Given the description of an element on the screen output the (x, y) to click on. 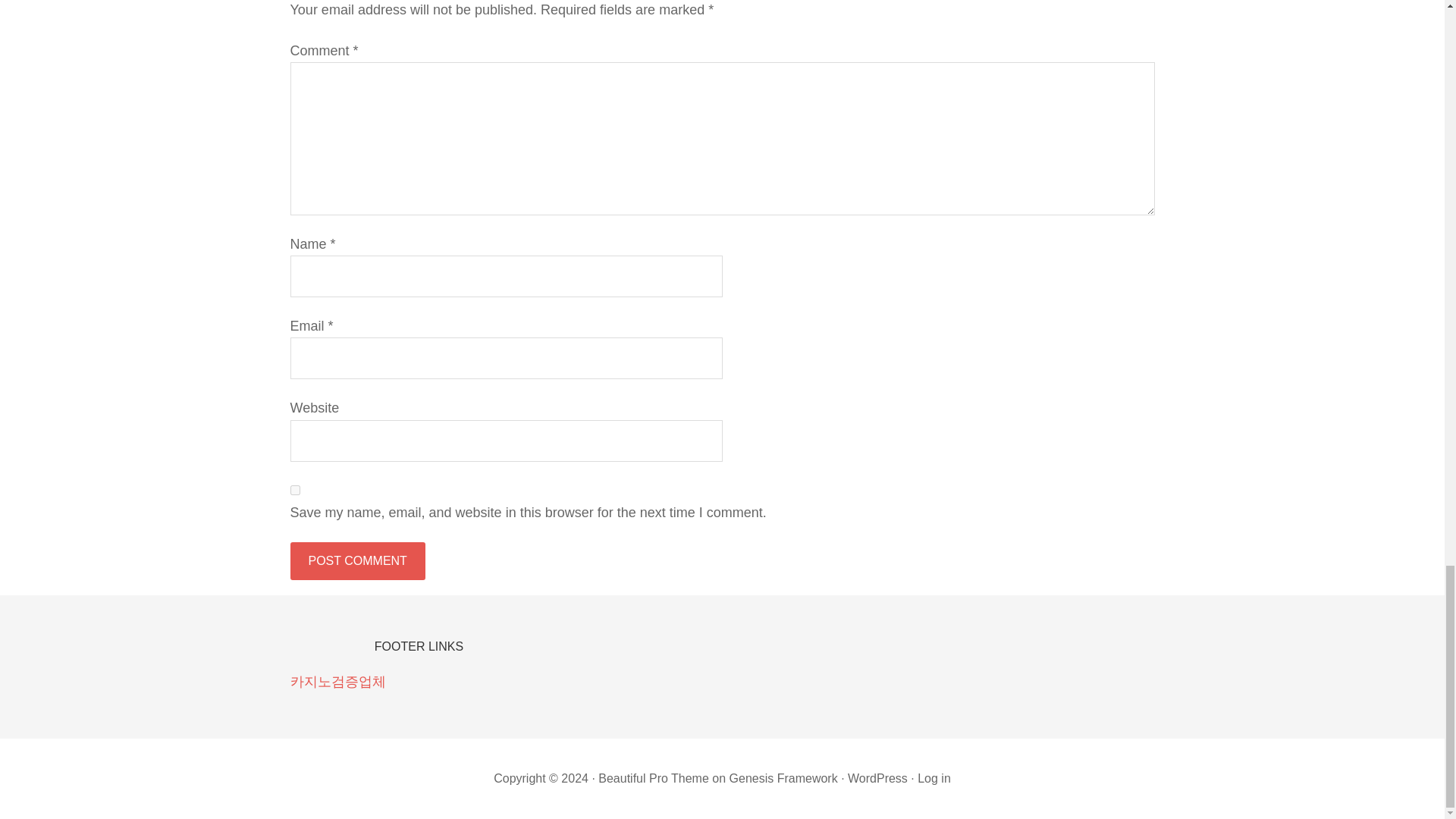
WordPress (877, 778)
Post Comment (357, 560)
Genesis Framework (783, 778)
Beautiful Pro Theme (653, 778)
Post Comment (357, 560)
Log in (933, 778)
yes (294, 490)
